Given the description of an element on the screen output the (x, y) to click on. 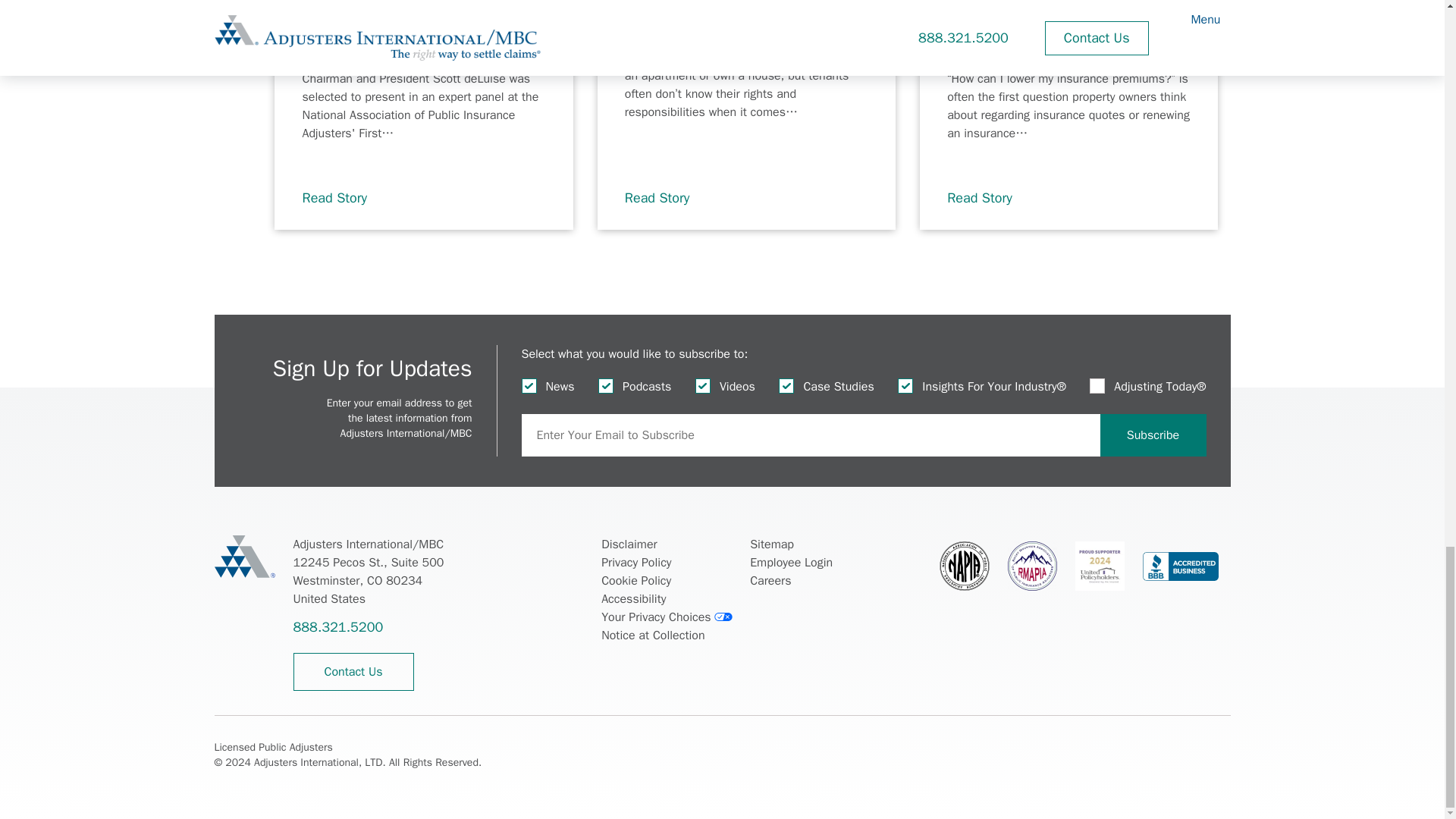
Cookie Policy (636, 580)
Read Story (988, 198)
Accessibility (633, 598)
Careers (769, 580)
Sitemap (771, 544)
Privacy Policy (636, 562)
Read Story (665, 198)
Employee Login (790, 562)
Read Story (342, 198)
Disclaimer (628, 544)
